Given the description of an element on the screen output the (x, y) to click on. 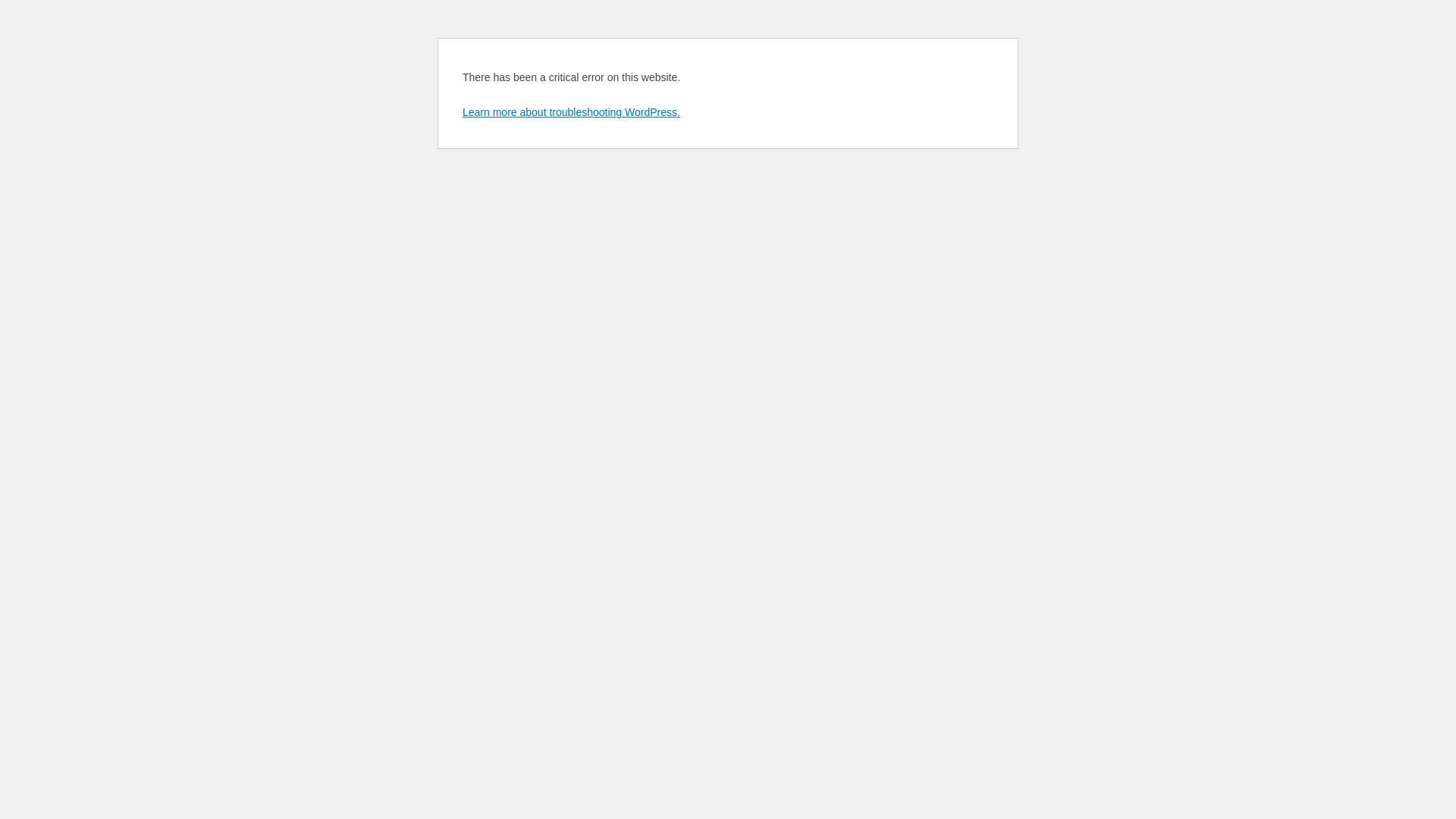
Learn more about troubleshooting WordPress. Element type: text (571, 112)
